Given the description of an element on the screen output the (x, y) to click on. 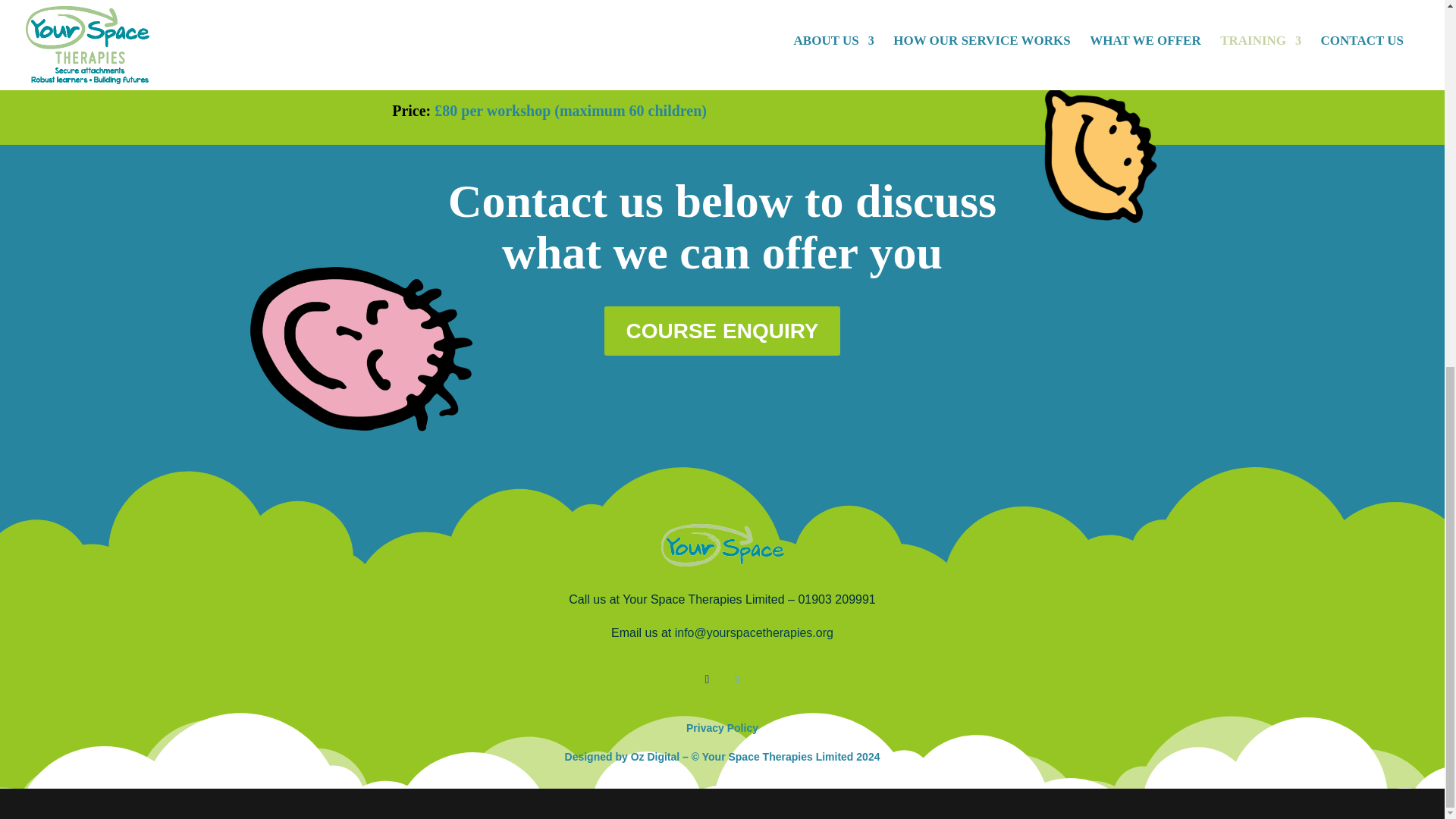
Designed by Oz Digital (621, 756)
Follow on Facebook (706, 679)
Follow on Instagram (737, 679)
COURSE ENQUIRY (722, 330)
2 (1092, 118)
logo (722, 545)
